Given the description of an element on the screen output the (x, y) to click on. 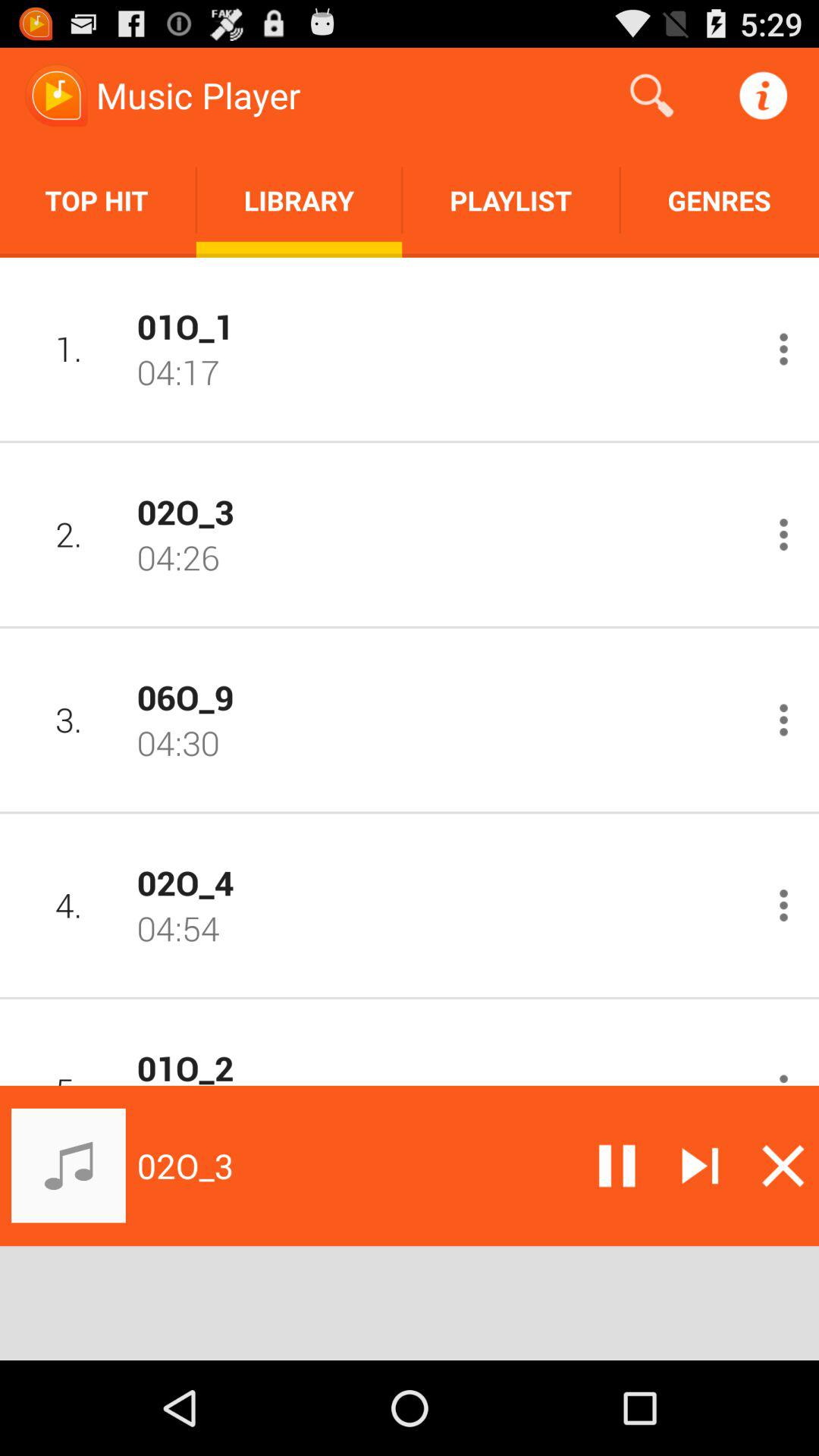
tap the item to the right of library item (651, 95)
